Given the description of an element on the screen output the (x, y) to click on. 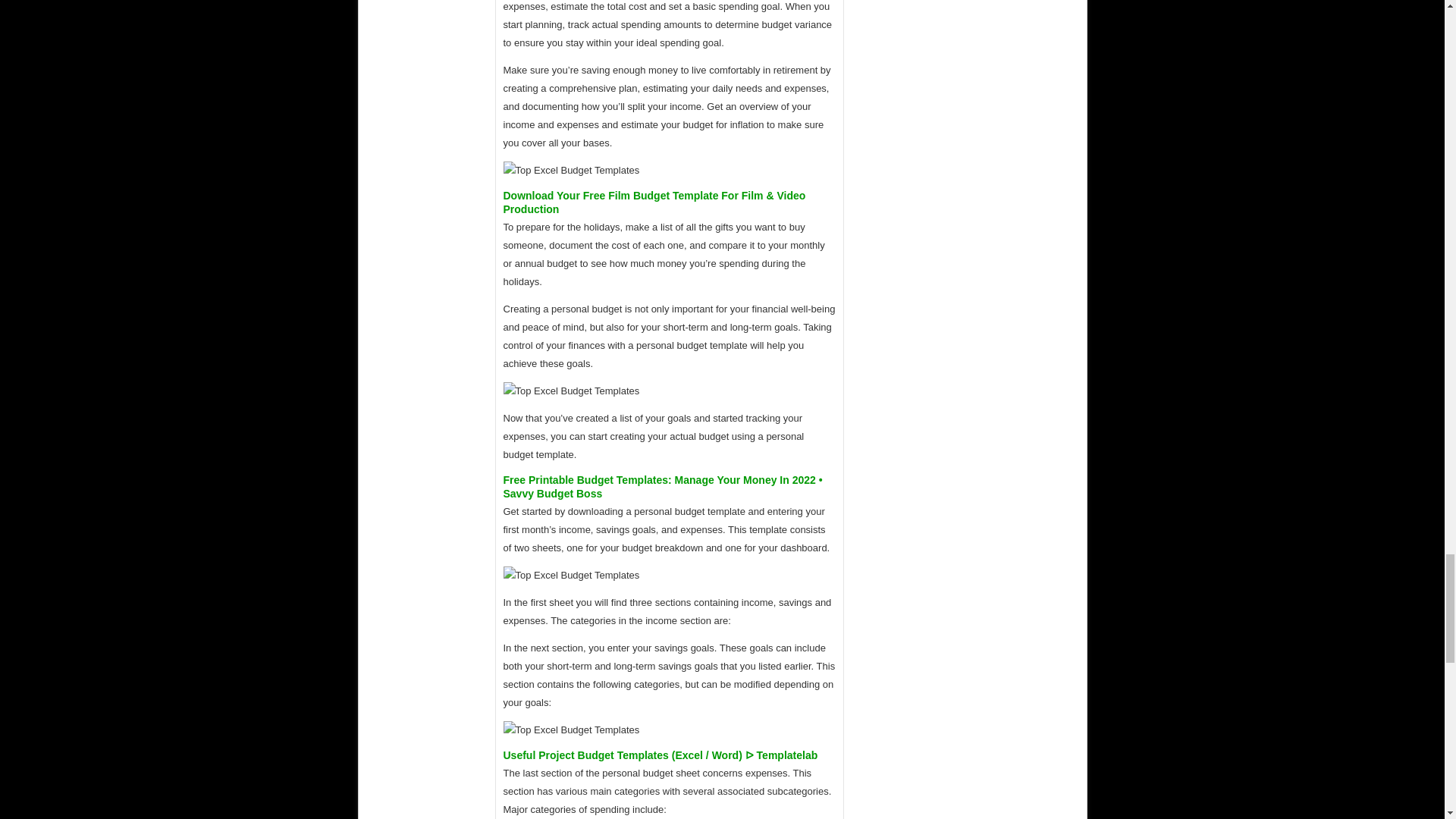
Top Excel Budget Templates (571, 170)
